Given the description of an element on the screen output the (x, y) to click on. 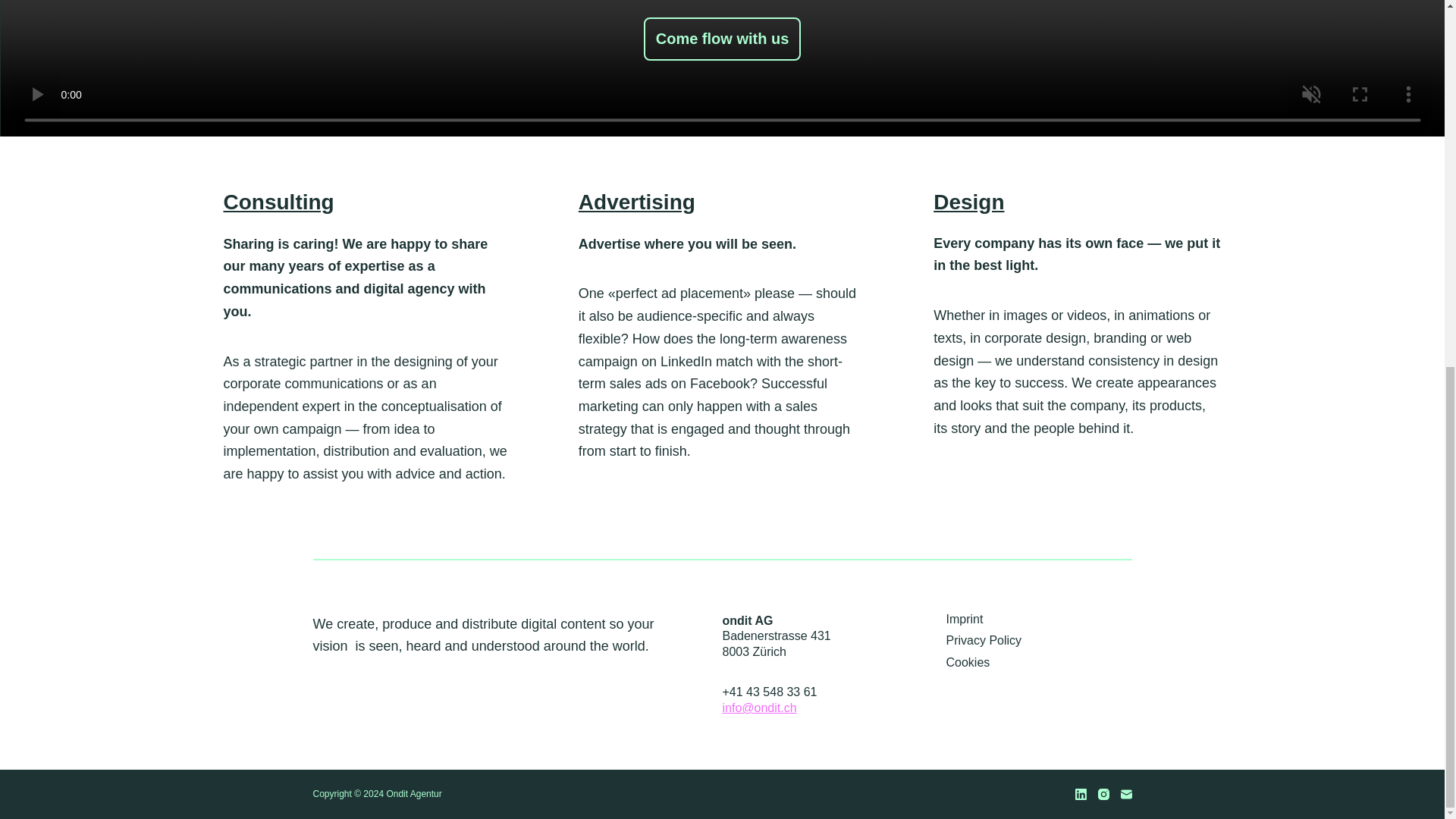
Imprint (1038, 619)
Privacy Policy (1038, 640)
Cookies (1038, 662)
Come flow with us (722, 38)
